Given the description of an element on the screen output the (x, y) to click on. 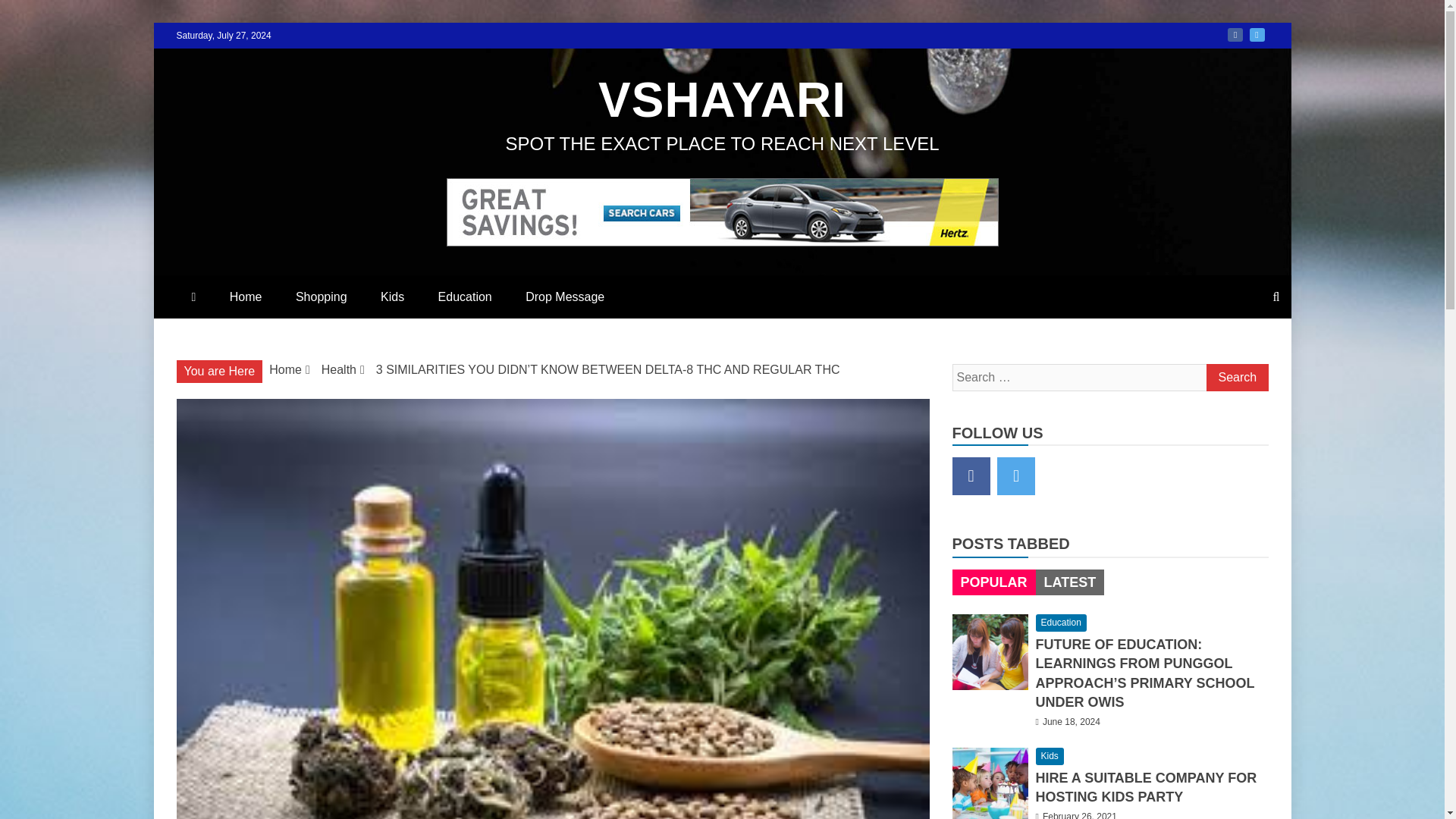
twitter (1257, 34)
Search (1236, 377)
facebook (1235, 34)
Kids (392, 296)
facebook (971, 476)
Search (1236, 377)
Health (338, 369)
Home (285, 369)
VSHAYARI (721, 99)
Drop Message (565, 296)
Education (464, 296)
twitter (1016, 476)
Home (246, 296)
Search (1236, 377)
